Given the description of an element on the screen output the (x, y) to click on. 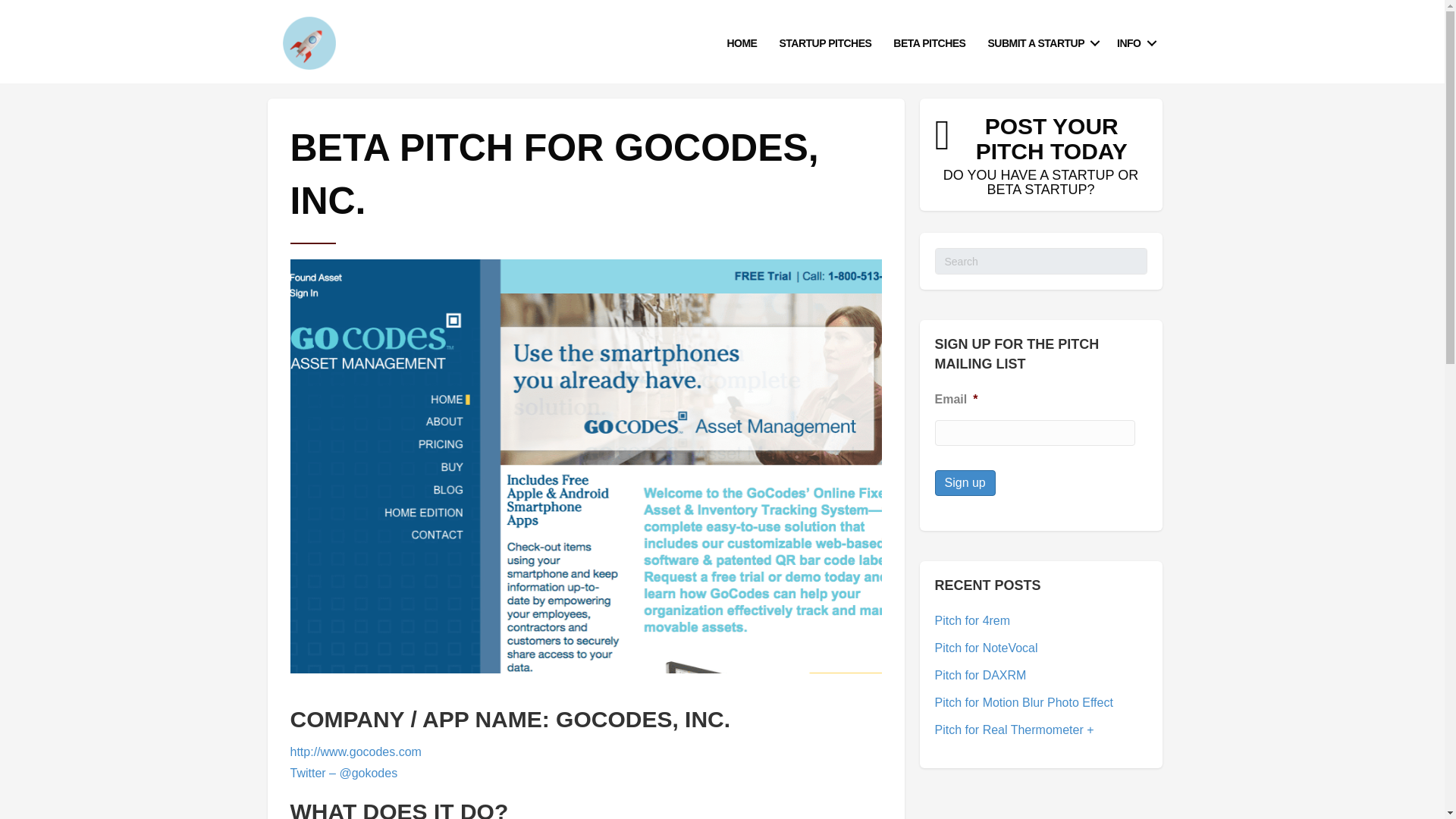
Pitch for DAXRM (980, 675)
SUBMIT A STARTUP (1040, 43)
Pitch for 4rem (972, 620)
Type and press Enter to search. (1039, 154)
Pitch for NoteVocal (1040, 261)
Pitch for Motion Blur Photo Effect (985, 647)
HOME (1023, 702)
BETA PITCHES (741, 43)
STARTUP PITCHES (928, 43)
Sign up (825, 43)
INFO (964, 482)
Sign up (1133, 43)
